Given the description of an element on the screen output the (x, y) to click on. 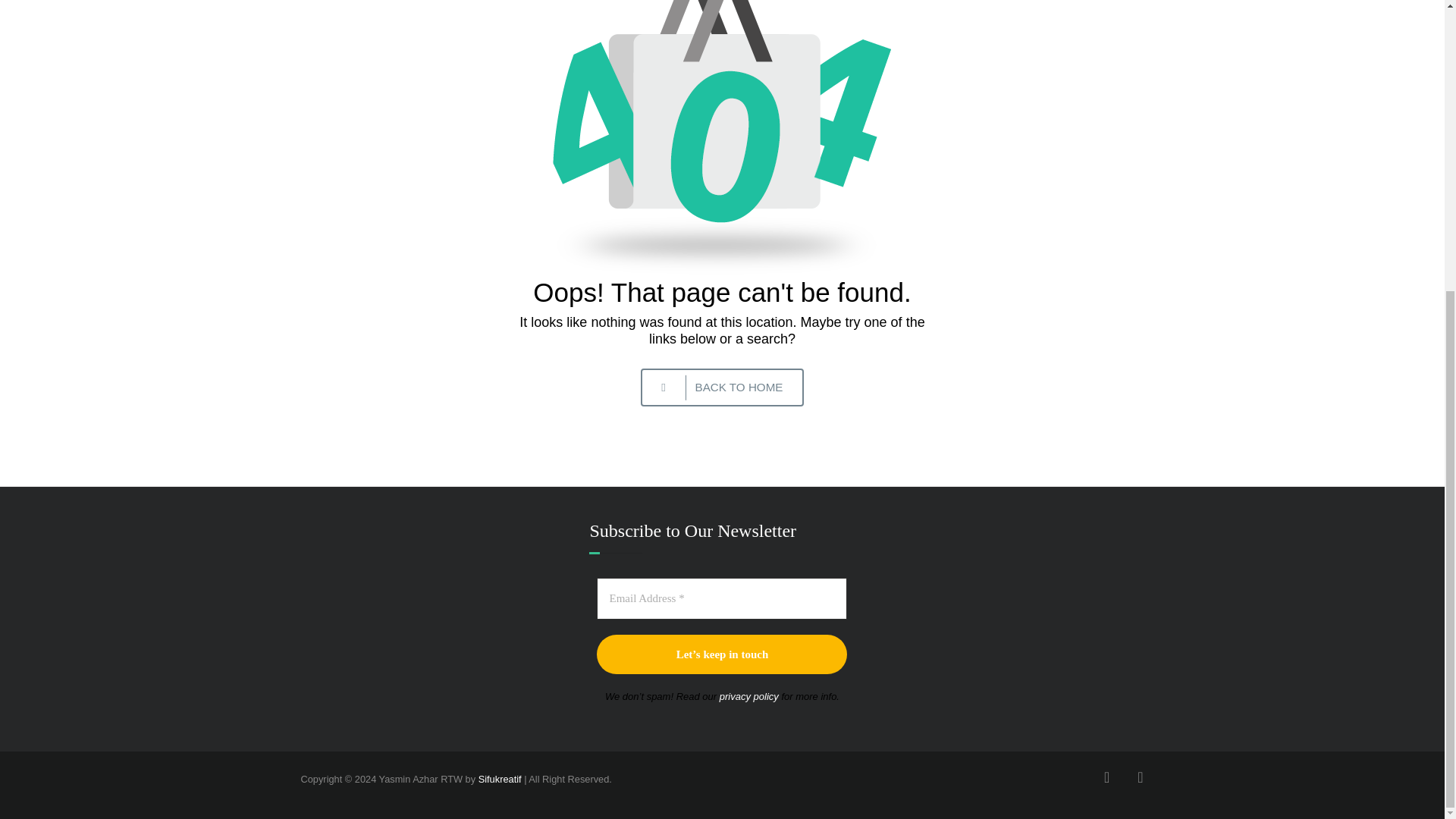
BACK TO HOME (722, 387)
Sifukreatif (500, 778)
Email Address (721, 598)
privacy policy (748, 696)
